Given the description of an element on the screen output the (x, y) to click on. 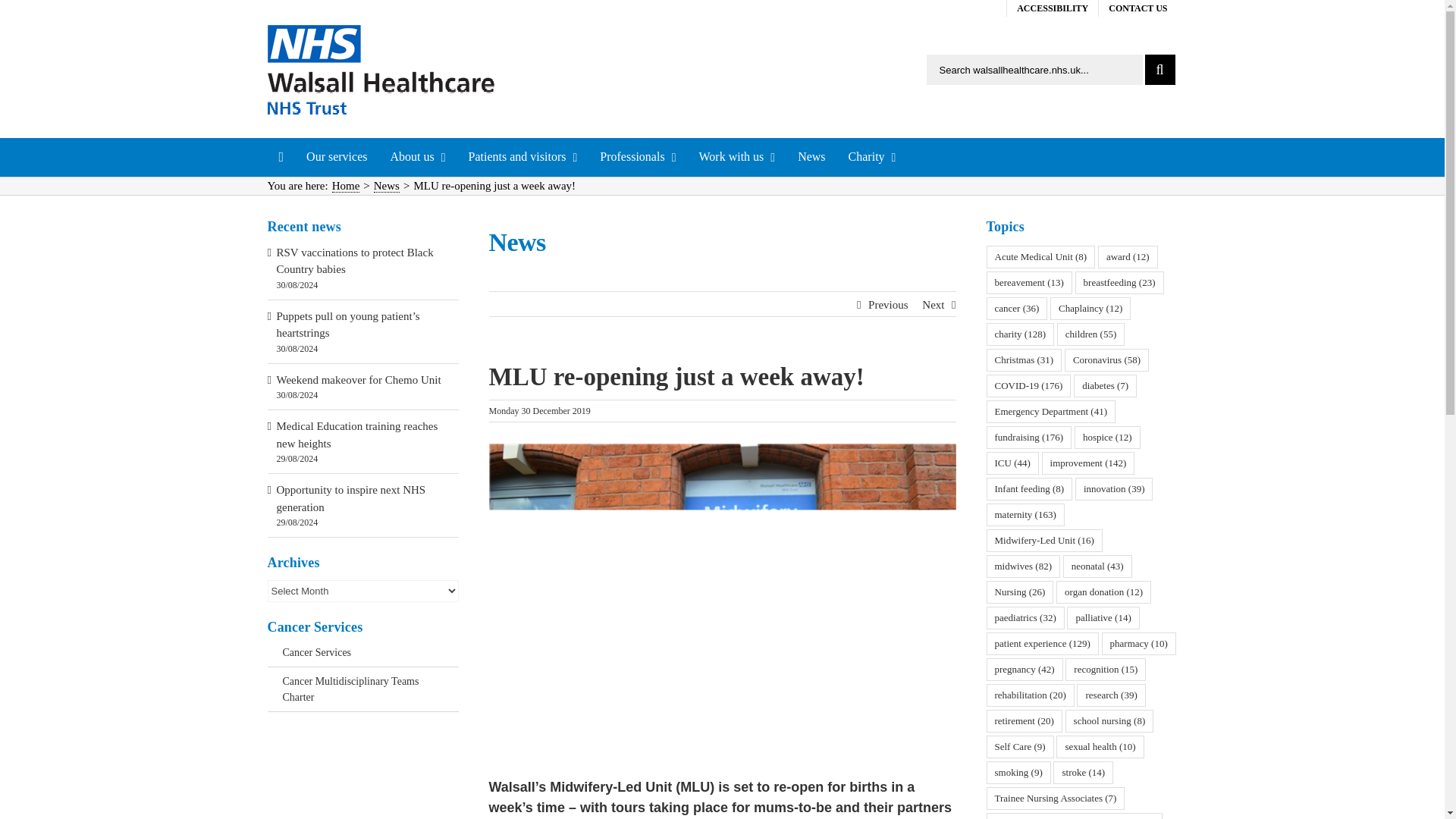
ACCESSIBILITY (1052, 8)
About us (417, 157)
Back to Parent Page (362, 655)
CONTACT US (1137, 8)
Patients and visitors (523, 157)
Our services (336, 157)
